Given the description of an element on the screen output the (x, y) to click on. 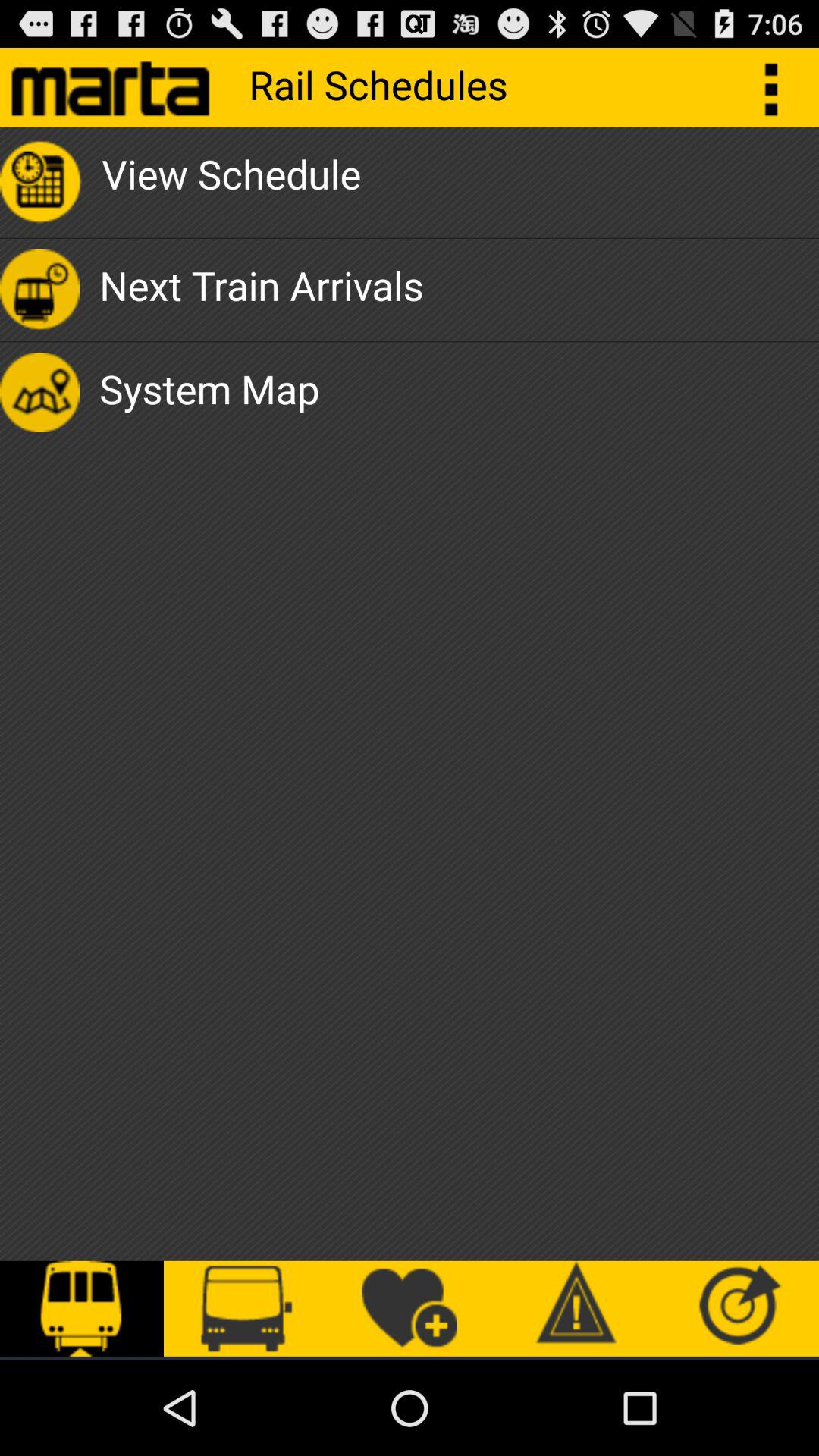
click the bottom left icon (81, 1308)
click on icon at the bottom right corner (737, 1308)
click on the button which is right side of rail schedules (779, 87)
click the bus icon (245, 1308)
